Given the description of an element on the screen output the (x, y) to click on. 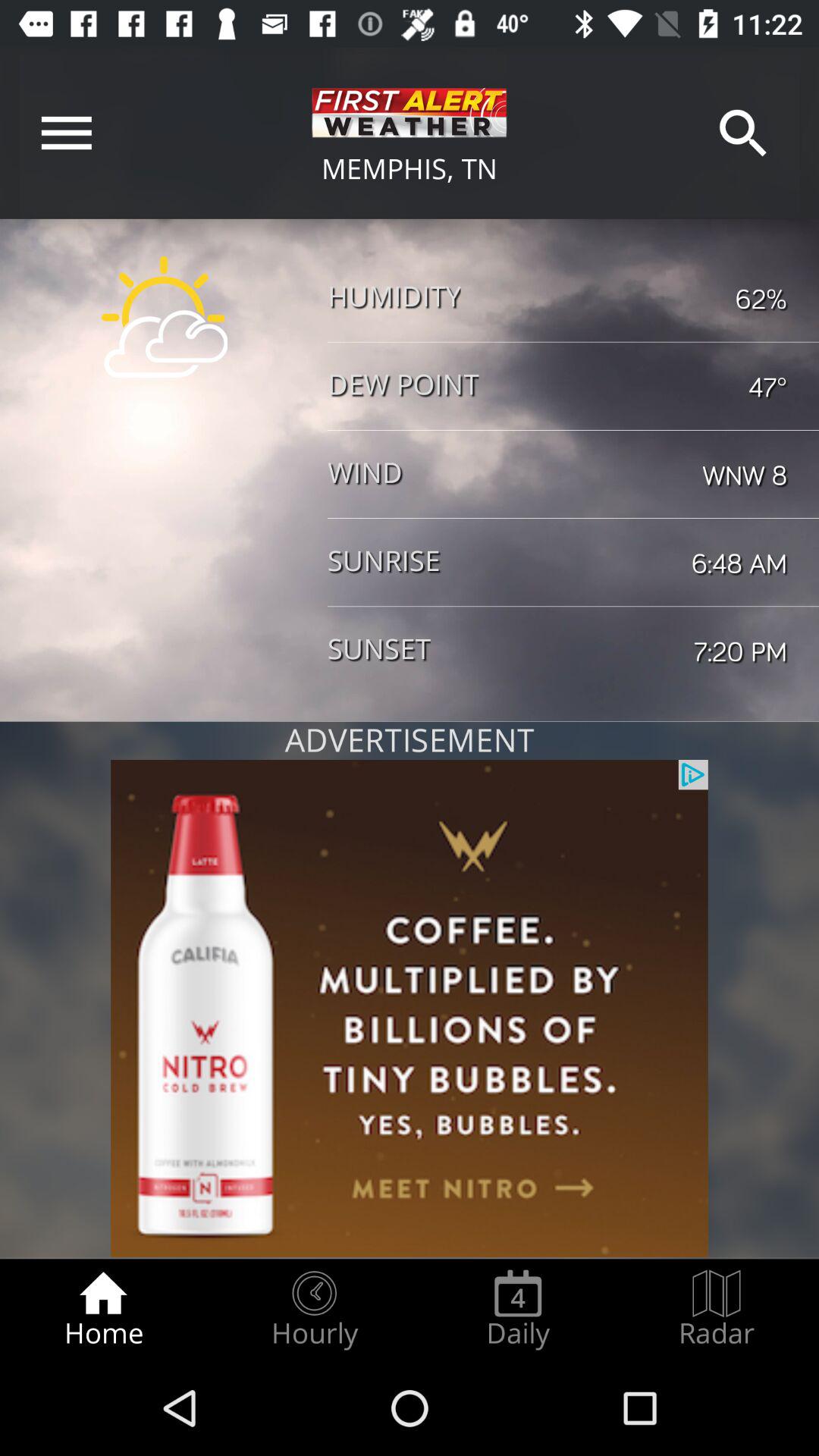
jump until radar radio button (716, 1309)
